Given the description of an element on the screen output the (x, y) to click on. 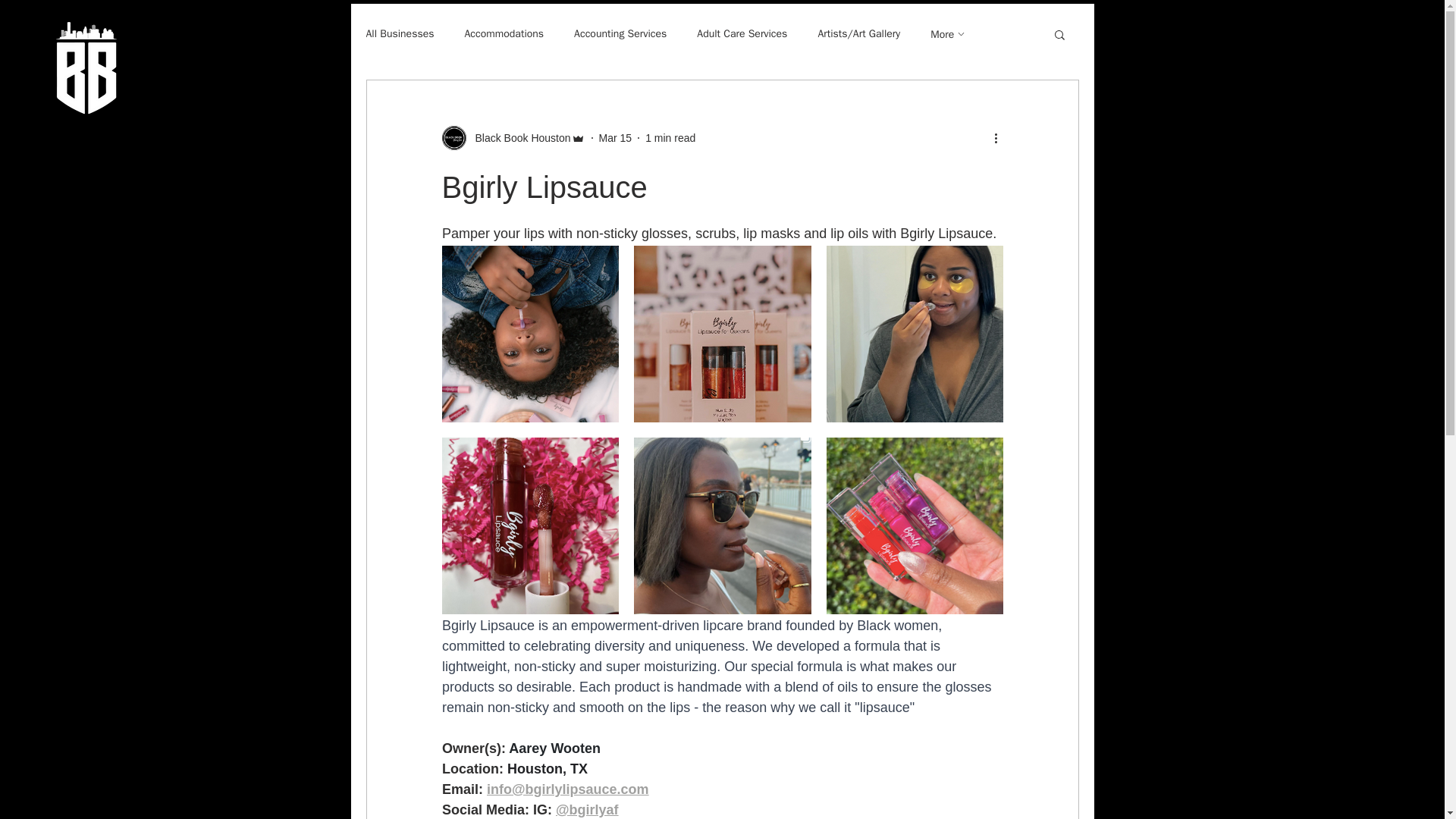
Accommodations (504, 33)
Mar 15 (614, 137)
Black Book Houston (513, 137)
1 min read (670, 137)
All Businesses (399, 33)
Accounting Services (619, 33)
Adult Care Services (742, 33)
Black Book Houston (517, 138)
